Given the description of an element on the screen output the (x, y) to click on. 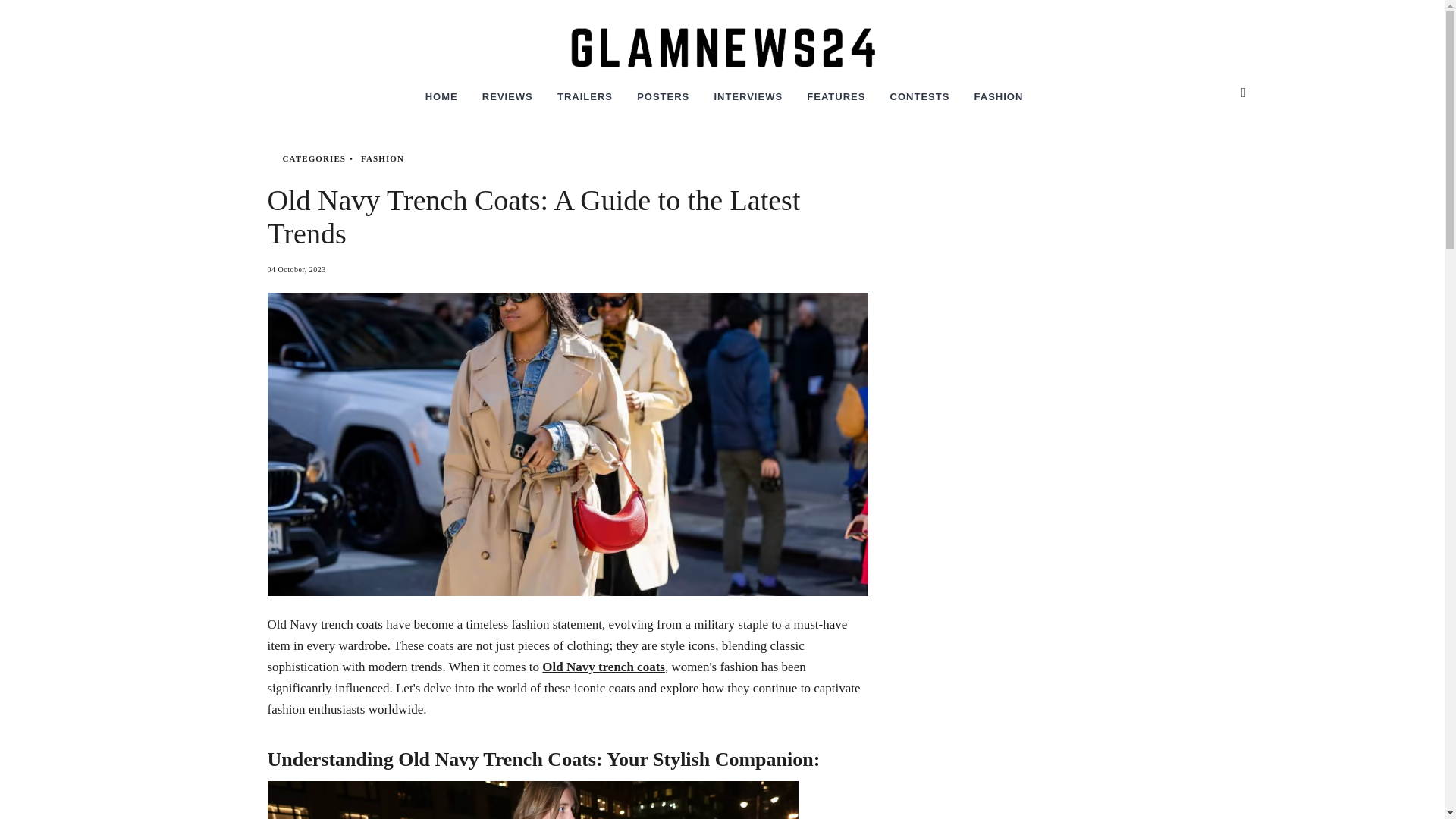
CATEGORIES (314, 157)
POSTERS (663, 100)
REVIEWS (507, 100)
HOME (441, 100)
CONTESTS (919, 100)
INTERVIEWS (748, 100)
FASHION (382, 157)
TRAILERS (584, 100)
FEATURES (836, 100)
FASHION (999, 100)
